Given the description of an element on the screen output the (x, y) to click on. 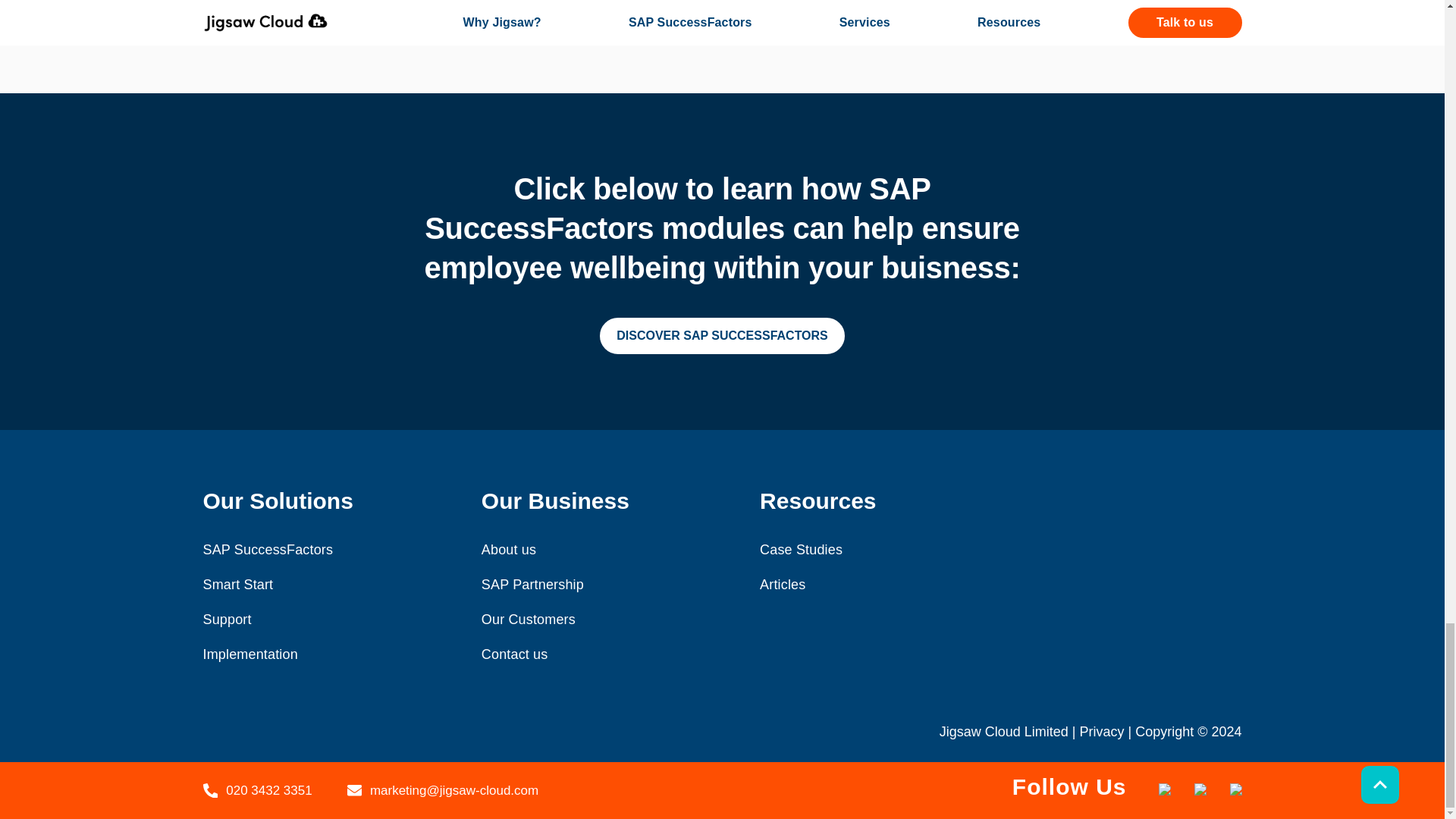
Smart Start (238, 584)
SAP SuccessFactors (268, 549)
Implementation (250, 654)
DISCOVER SAP SUCCESSFACTORS (721, 335)
Support (227, 619)
